Given the description of an element on the screen output the (x, y) to click on. 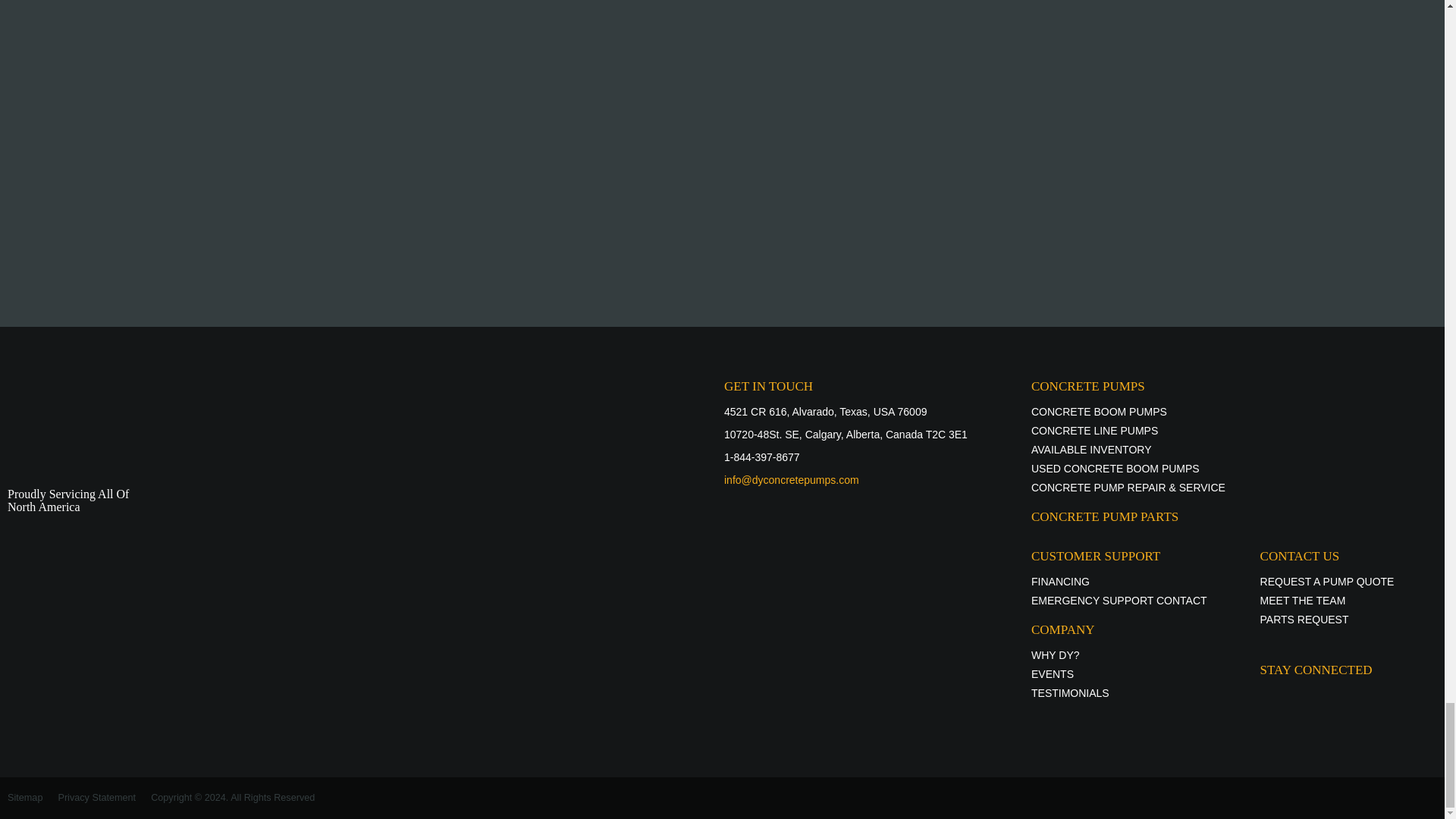
Twitter (403, 247)
Facebook (377, 247)
